Given the description of an element on the screen output the (x, y) to click on. 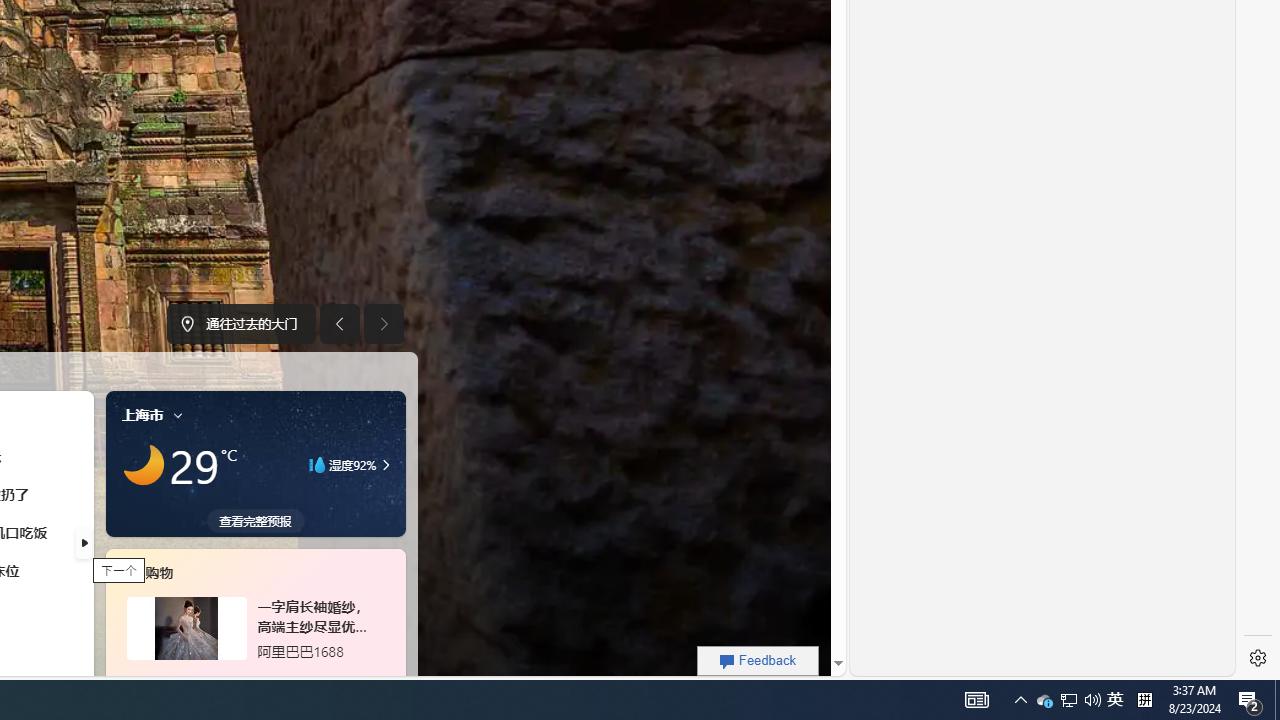
Class: weather-arrow-glyph (385, 464)
tab-8 (267, 678)
tab-7 (255, 678)
tab-4 (219, 678)
